Given the description of an element on the screen output the (x, y) to click on. 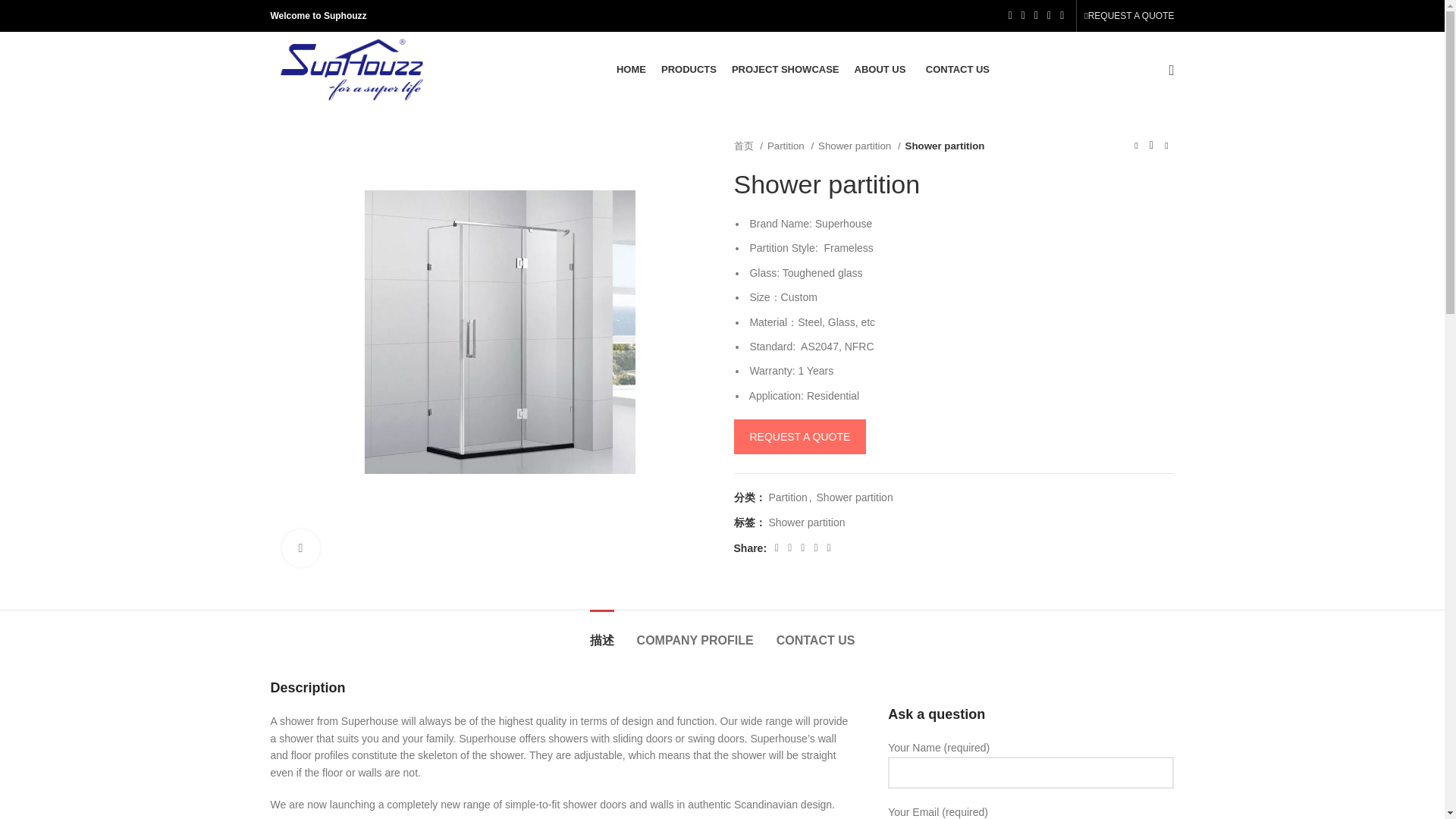
ABOUT US (882, 69)
contact us (799, 436)
HOME (630, 69)
PRODUCTS (688, 69)
PROJECT SHOWCASE (785, 69)
REQUEST A QUOTE (1128, 15)
Shower partition (858, 145)
Partition (790, 145)
CONTACT US (957, 69)
